Given the description of an element on the screen output the (x, y) to click on. 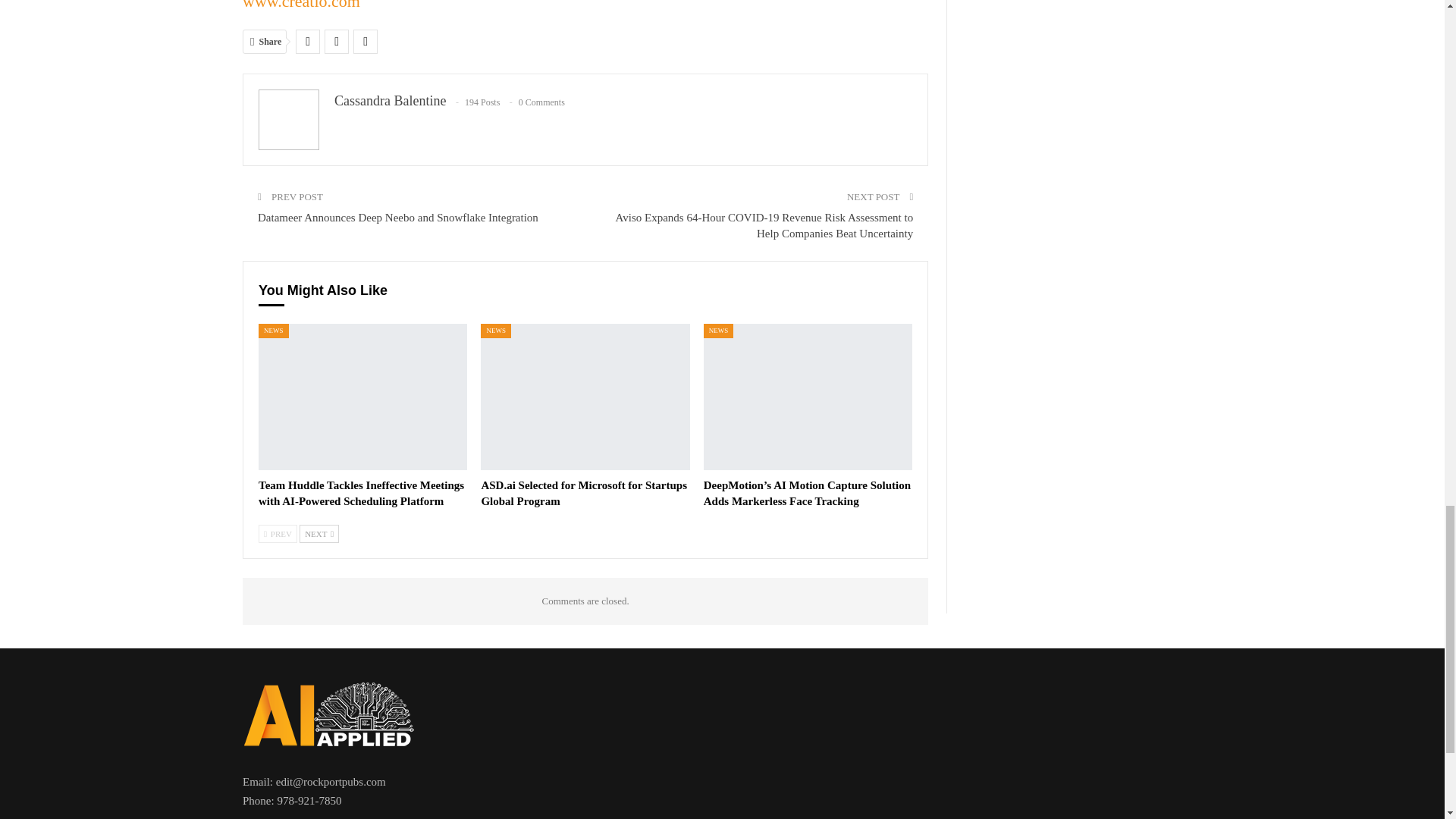
ASD.ai Selected for Microsoft for Startups Global Program (583, 492)
ASD.ai Selected for Microsoft for Startups Global Program (584, 396)
